Given the description of an element on the screen output the (x, y) to click on. 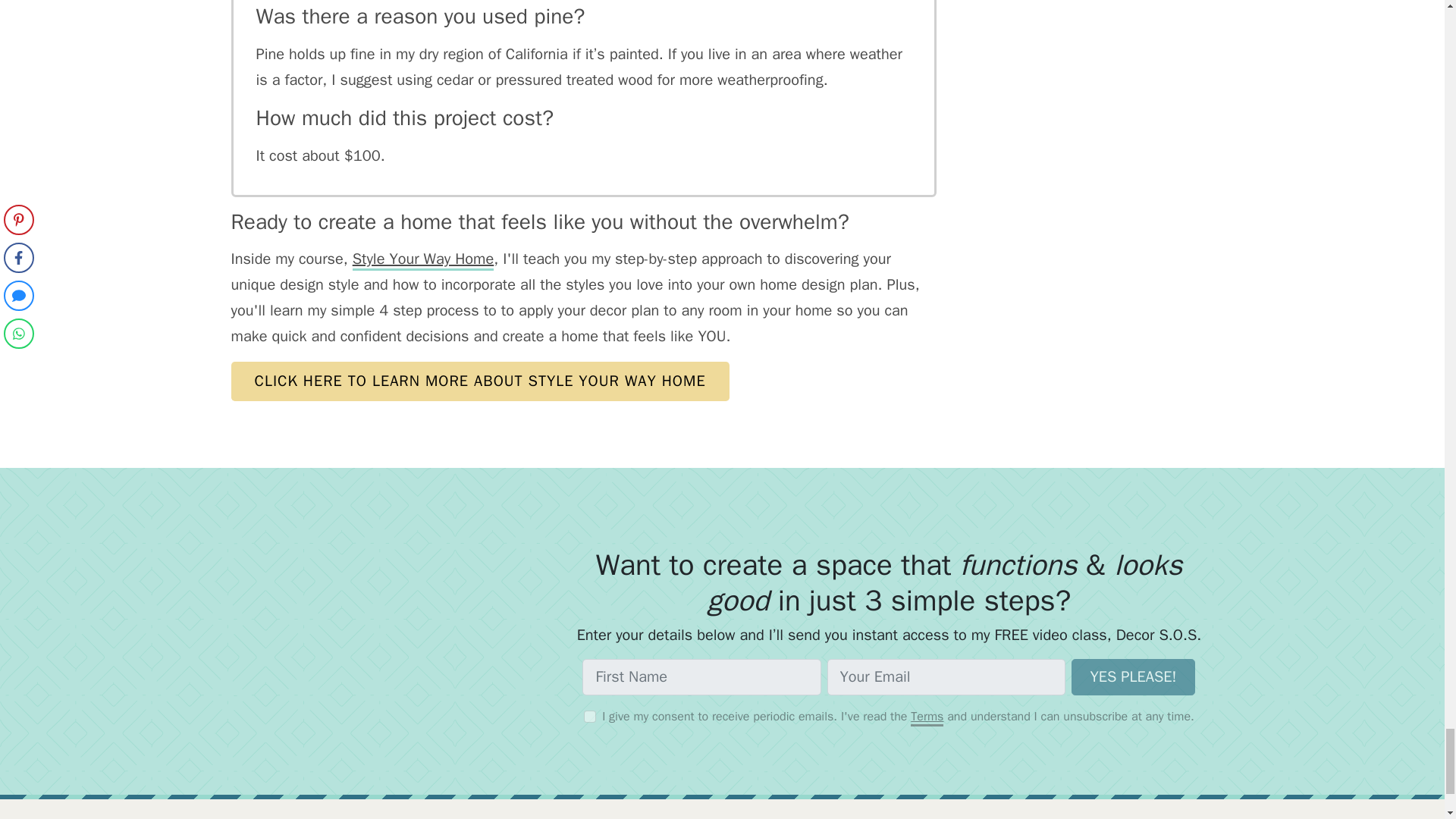
consent-given (589, 716)
